Given the description of an element on the screen output the (x, y) to click on. 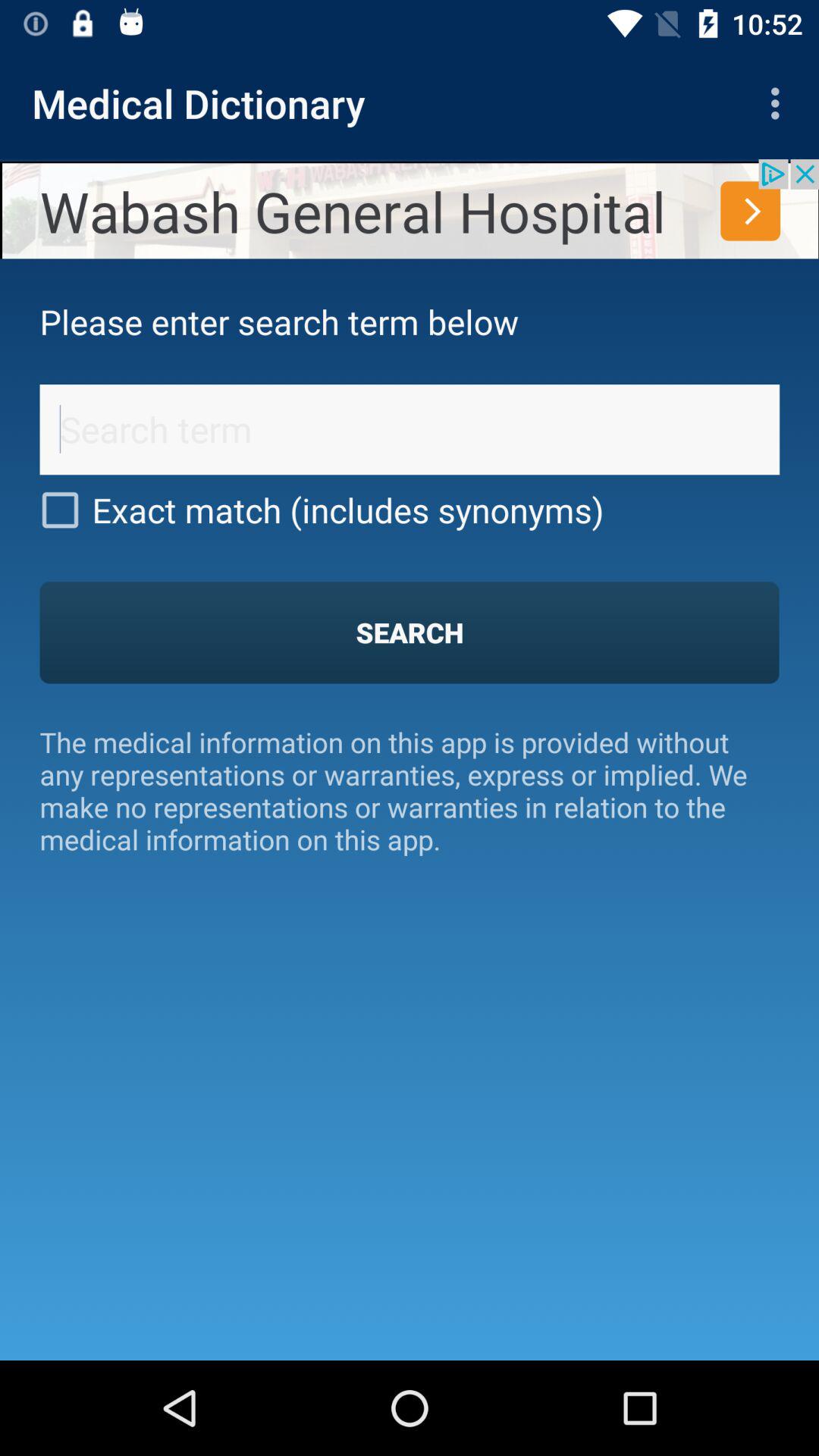
click advertisement (409, 208)
